Given the description of an element on the screen output the (x, y) to click on. 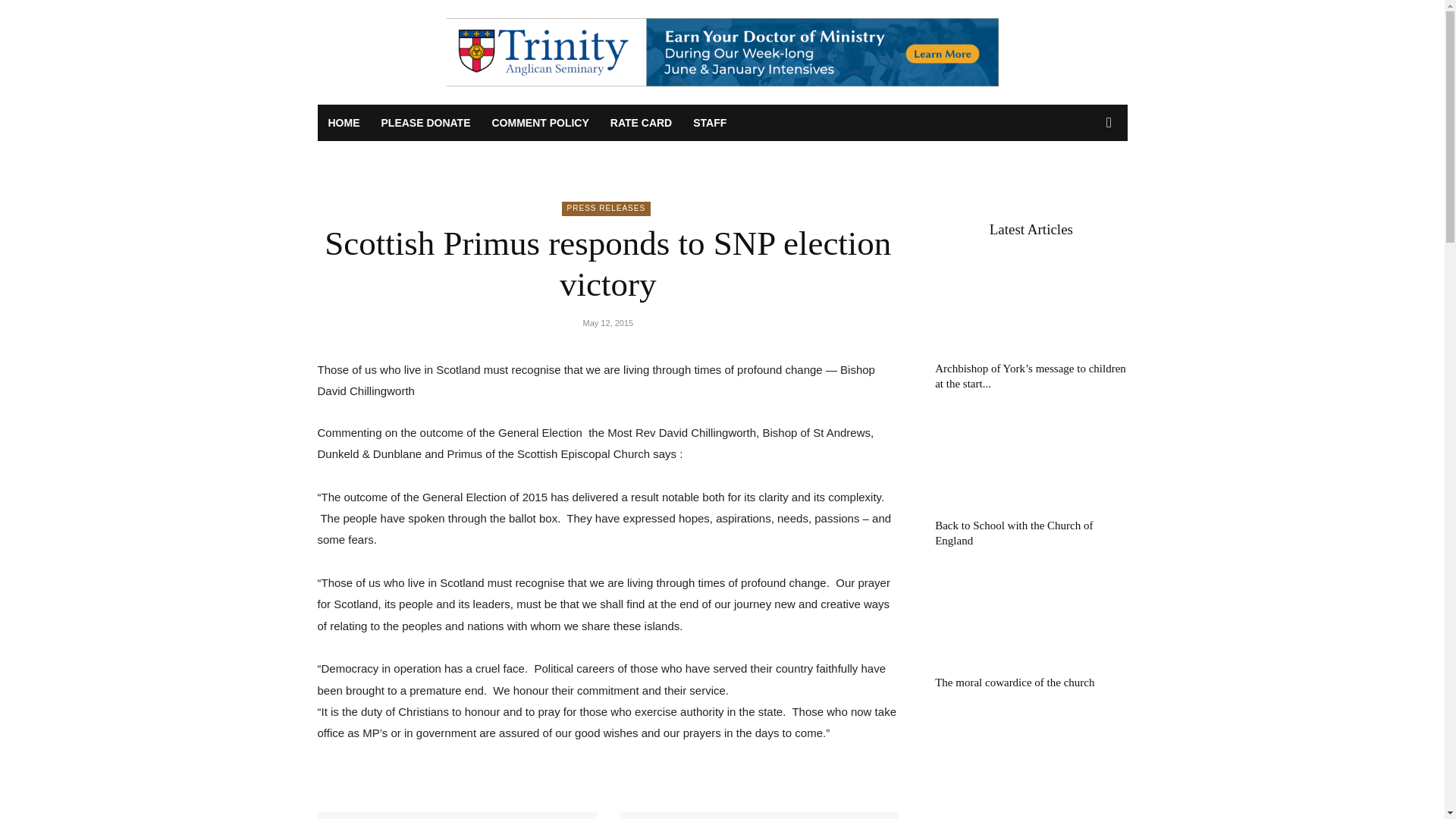
STAFF (709, 122)
Back to School with the Church of England (1013, 533)
HOME (343, 122)
Back to School with the Church of England (1030, 460)
Back to School with the Church of England (1013, 533)
Search (1085, 183)
PLEASE DONATE (424, 122)
The moral cowardice of the church (1014, 682)
The moral cowardice of the church (1014, 682)
